Given the description of an element on the screen output the (x, y) to click on. 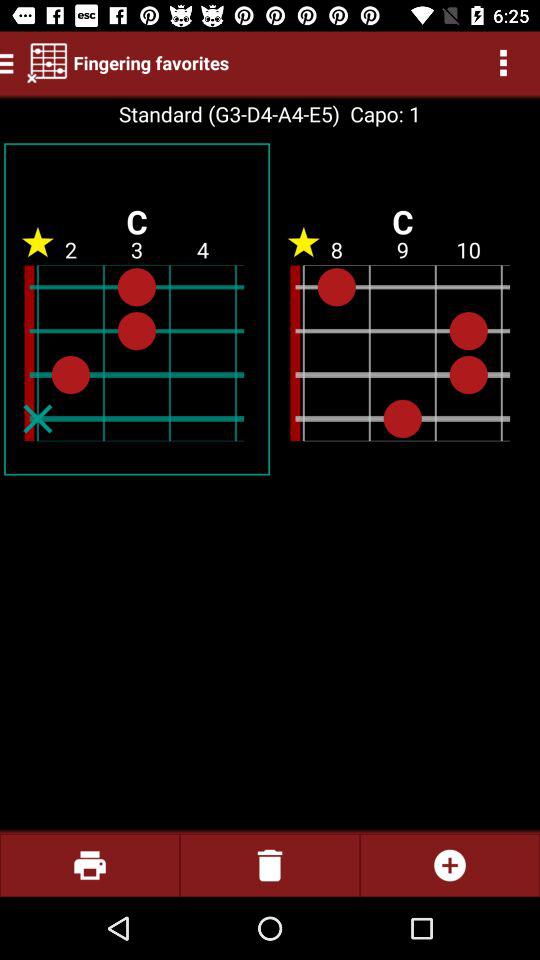
tap the item to the left of   capo: 1 (228, 113)
